Given the description of an element on the screen output the (x, y) to click on. 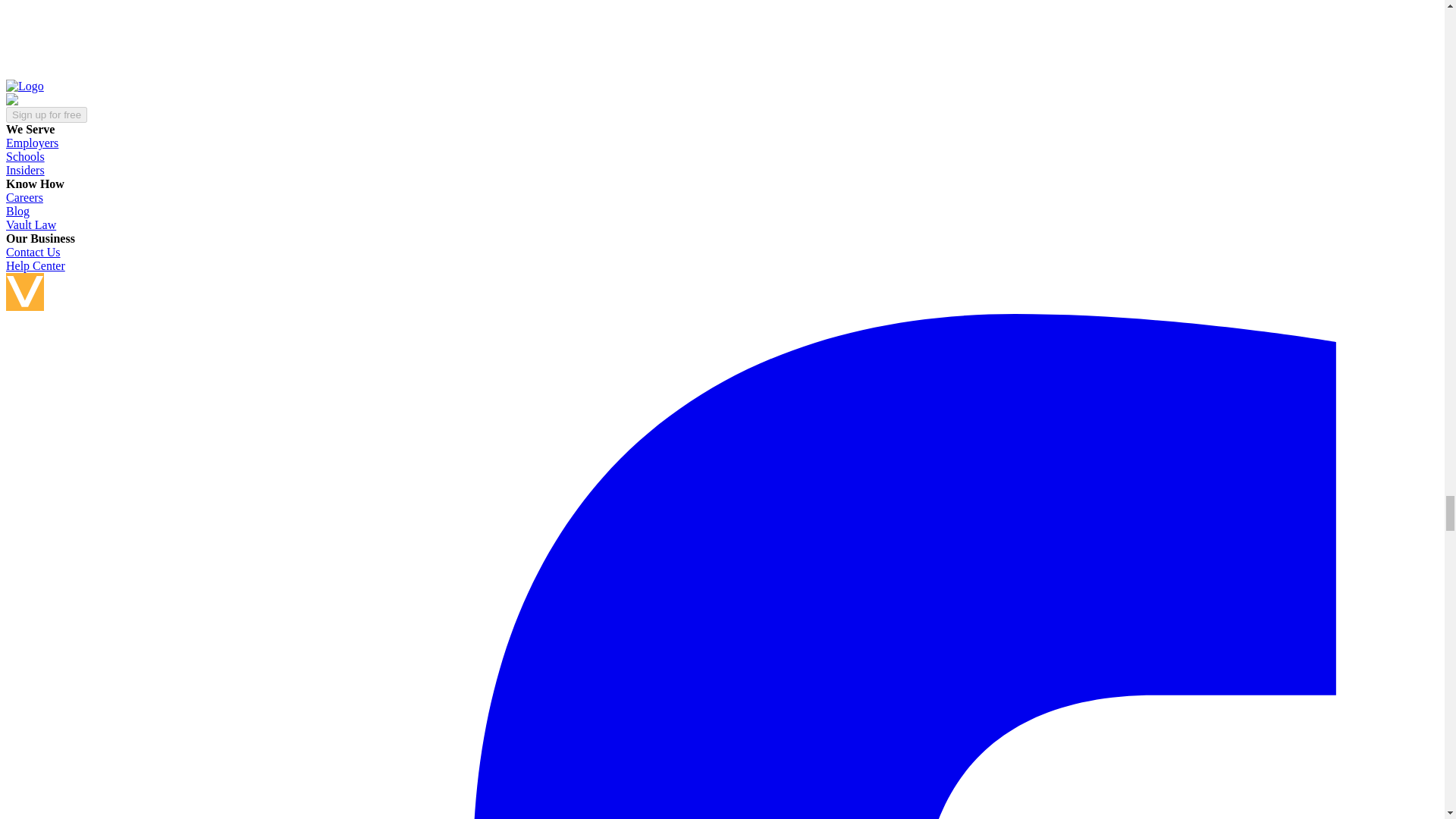
Sign up for free (46, 114)
Employers (31, 142)
Blog (17, 210)
Help Center (35, 265)
Careers (24, 196)
Insiders (25, 169)
Contact Us (33, 251)
Schools (25, 155)
Vault Law (30, 224)
Sign up for free (46, 113)
